Given the description of an element on the screen output the (x, y) to click on. 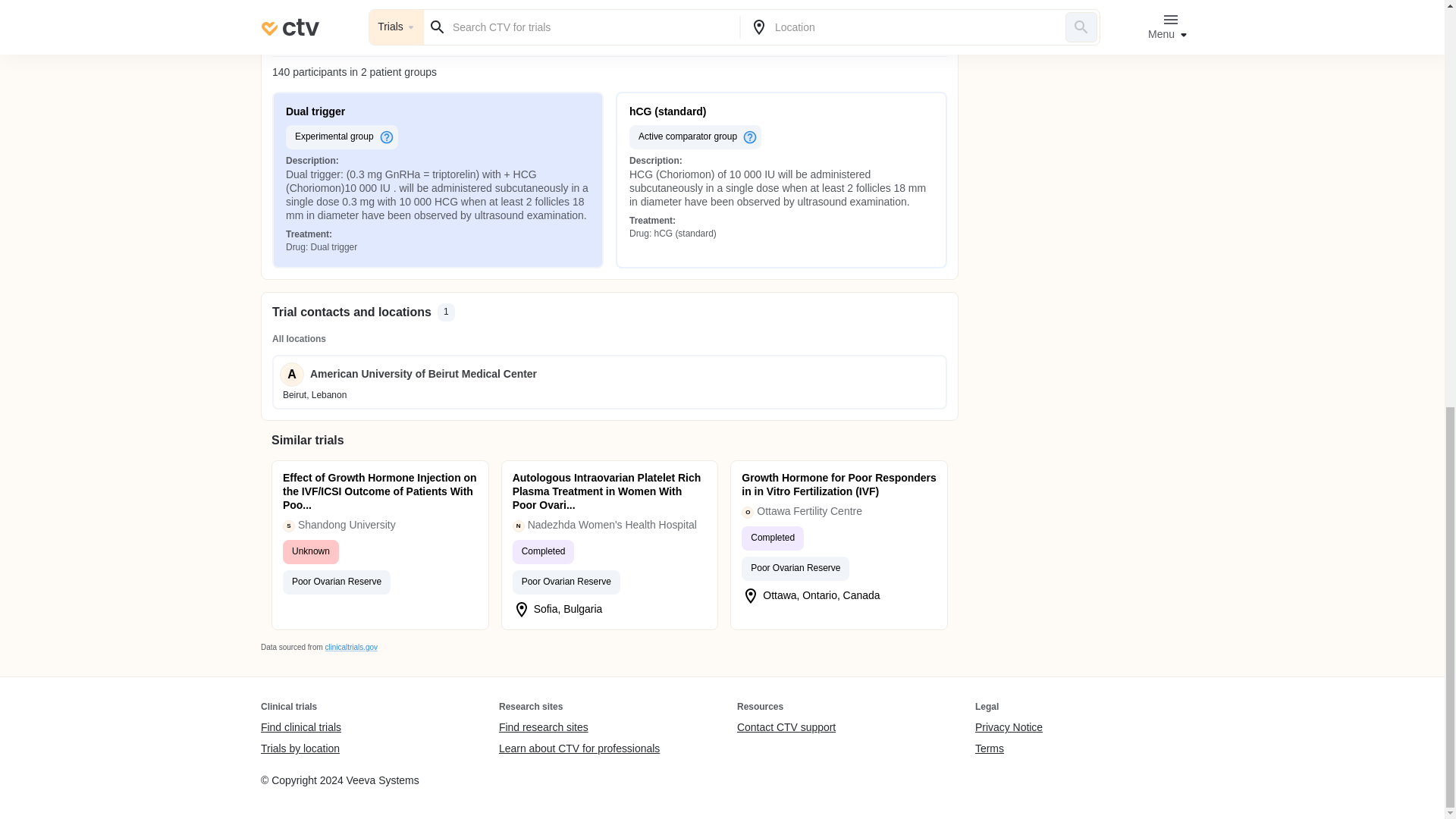
Terms (1008, 748)
Trials by location (300, 748)
Privacy Notice (1008, 727)
Learn about CTV for professionals (579, 748)
clinicaltrials.gov (350, 646)
Find research sites (579, 727)
Contact CTV support (785, 727)
Find clinical trials (300, 727)
